Given the description of an element on the screen output the (x, y) to click on. 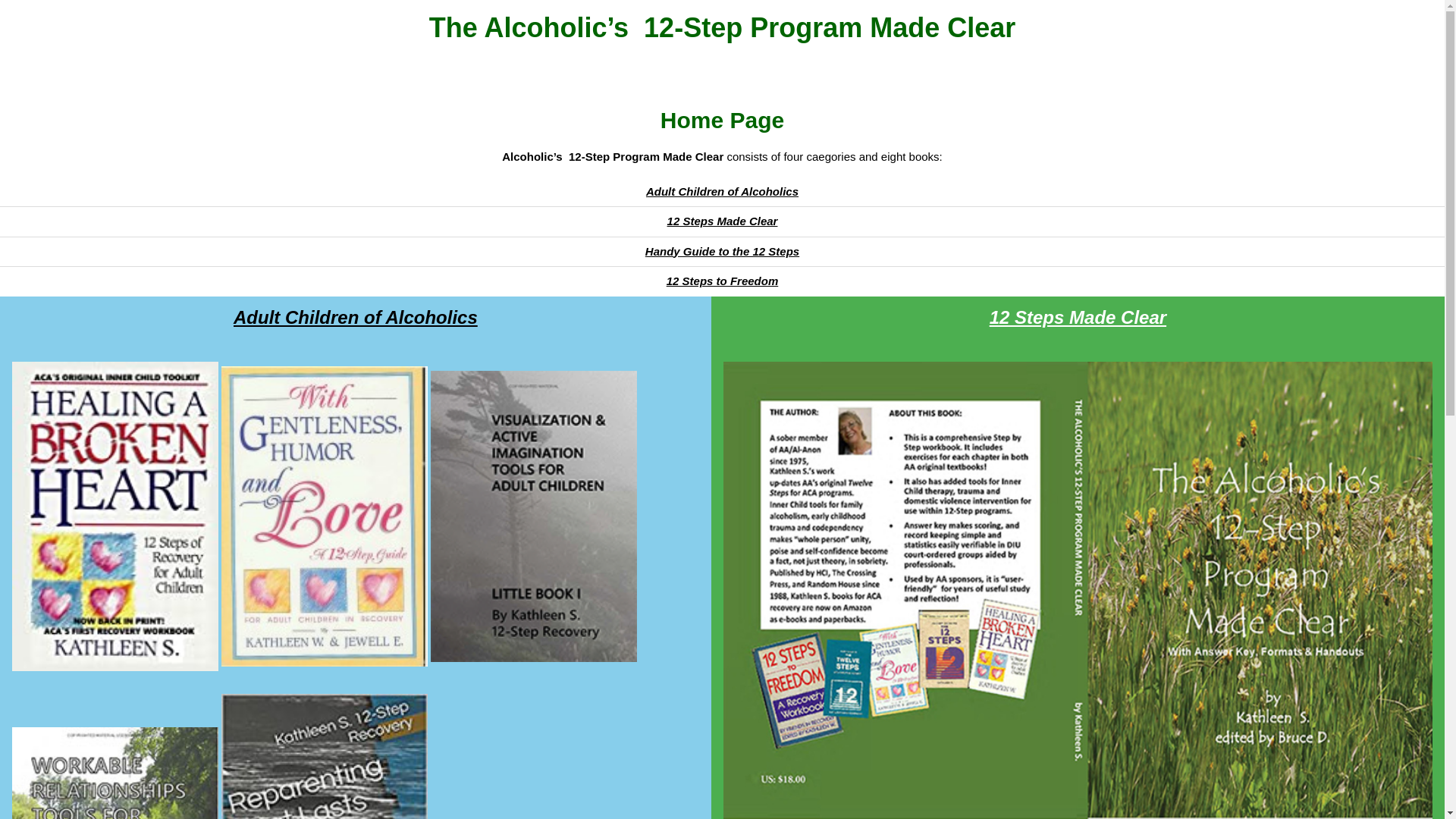
Handy Guide to the 12 Steps Element type: text (722, 250)
12 Steps Made Clear Element type: text (722, 220)
12 Steps Made Clear Element type: text (1077, 444)
12 Steps to Freedom Element type: text (722, 280)
Adult Children of Alcoholics Element type: text (722, 191)
Adult Children of Alcoholics Element type: text (355, 407)
